Given the description of an element on the screen output the (x, y) to click on. 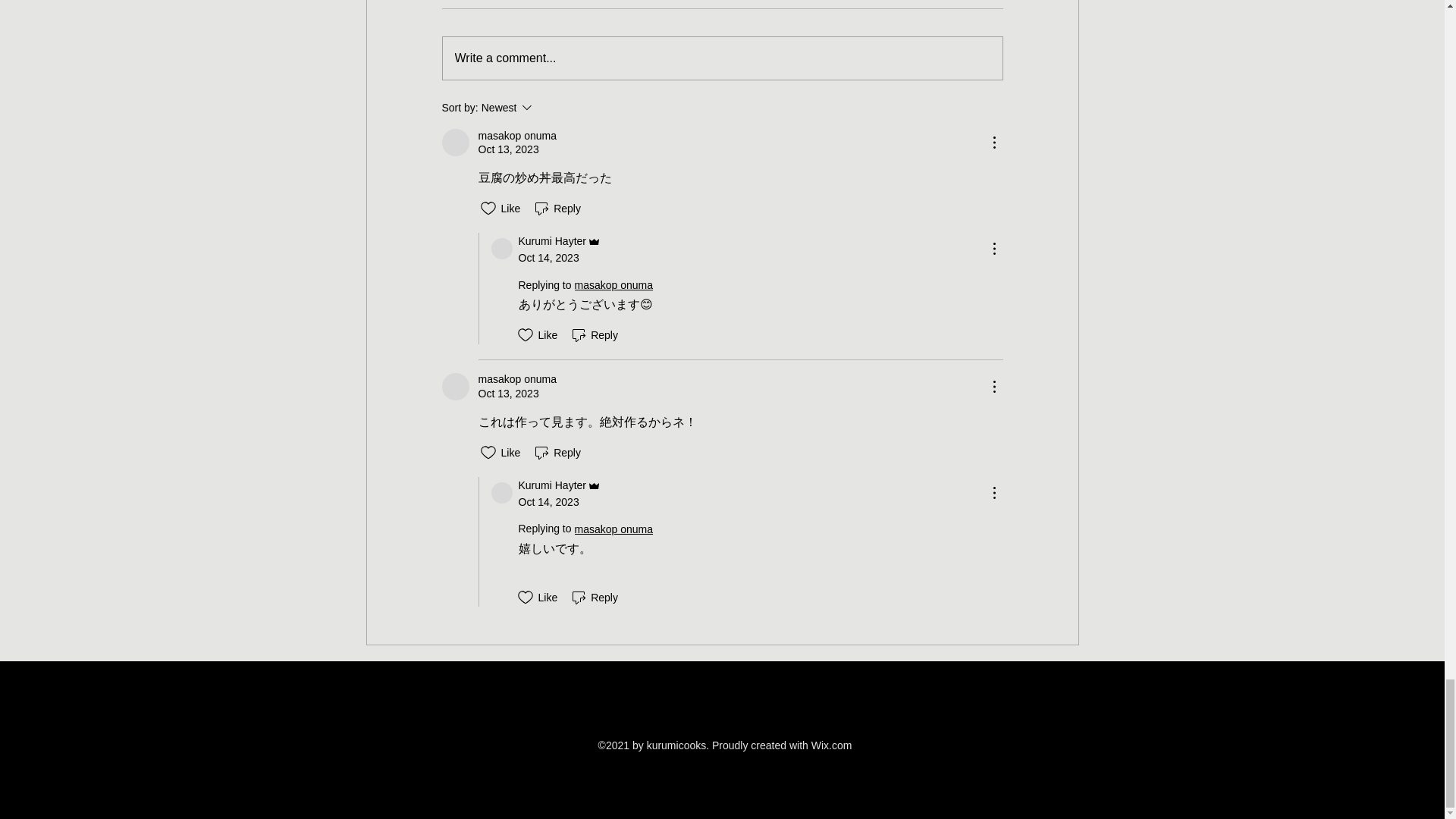
masakop onuma (454, 386)
masakop onuma (454, 142)
Kurumi Hayter (502, 492)
Kurumi Hayter (502, 248)
